Given the description of an element on the screen output the (x, y) to click on. 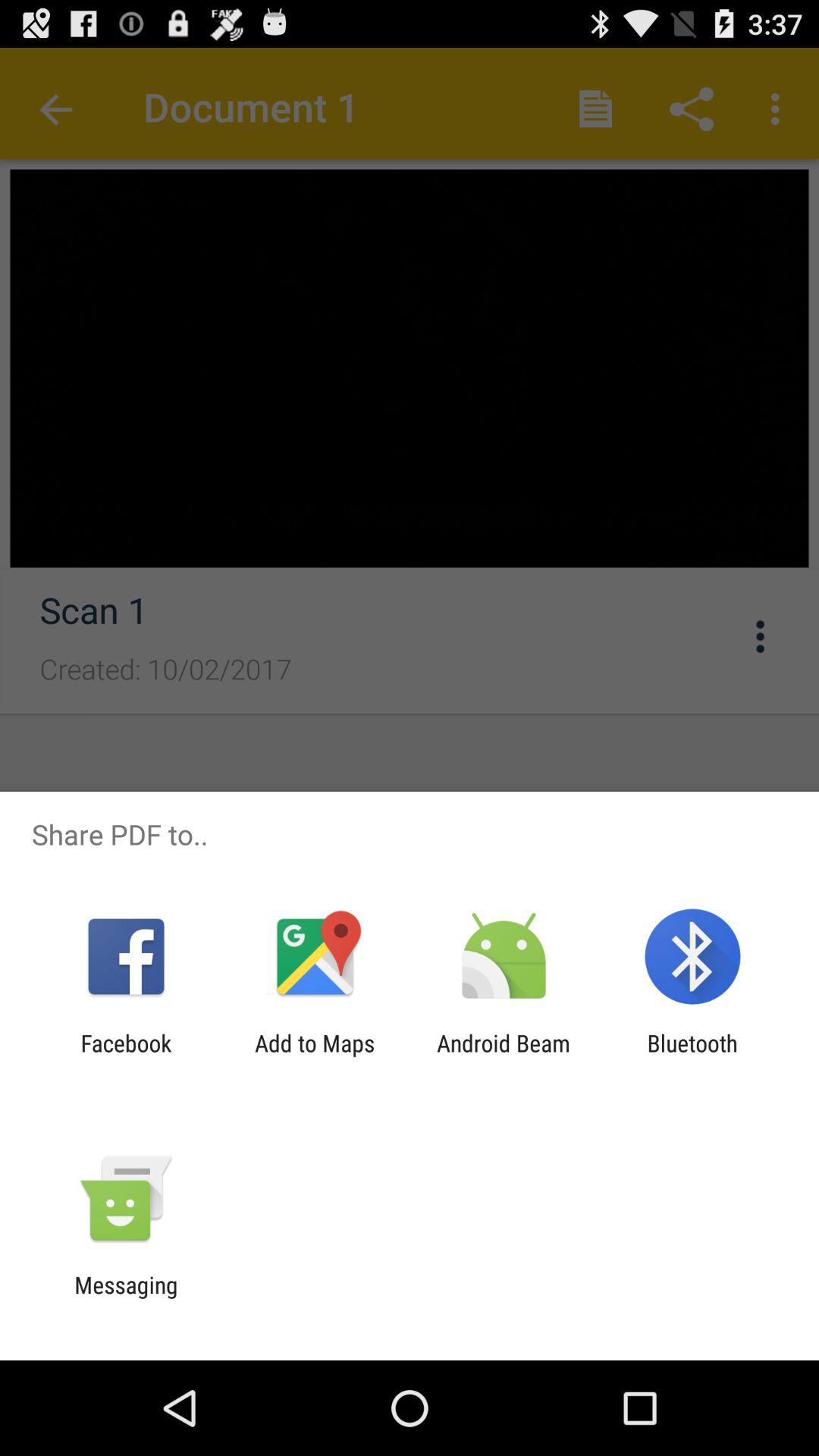
turn off the icon at the bottom right corner (692, 1056)
